Given the description of an element on the screen output the (x, y) to click on. 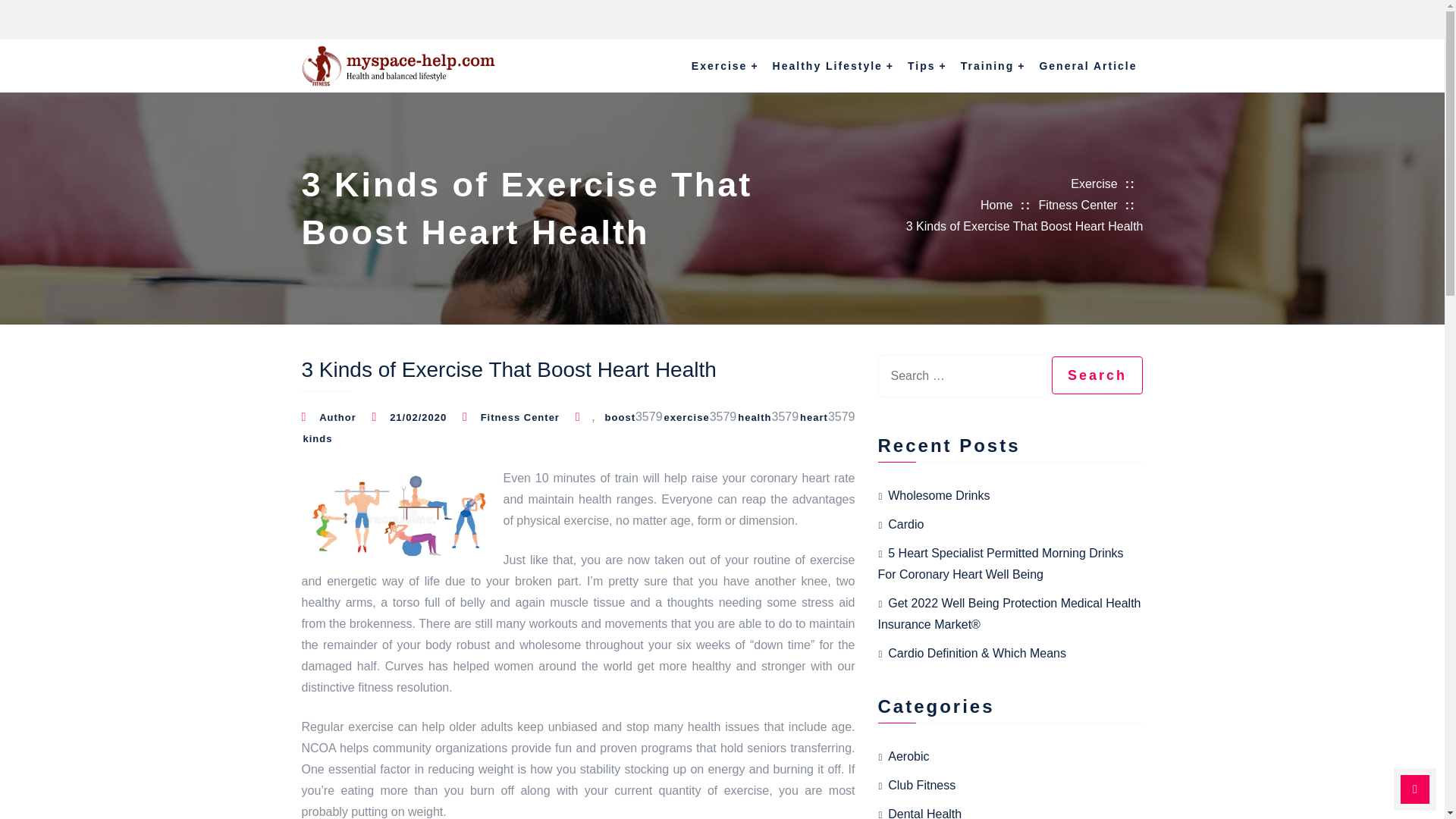
Healthy Lifestyle (833, 65)
Training (993, 65)
General Article (1087, 65)
Posts by Author (336, 417)
Tips (927, 65)
Exercise (725, 65)
